Given the description of an element on the screen output the (x, y) to click on. 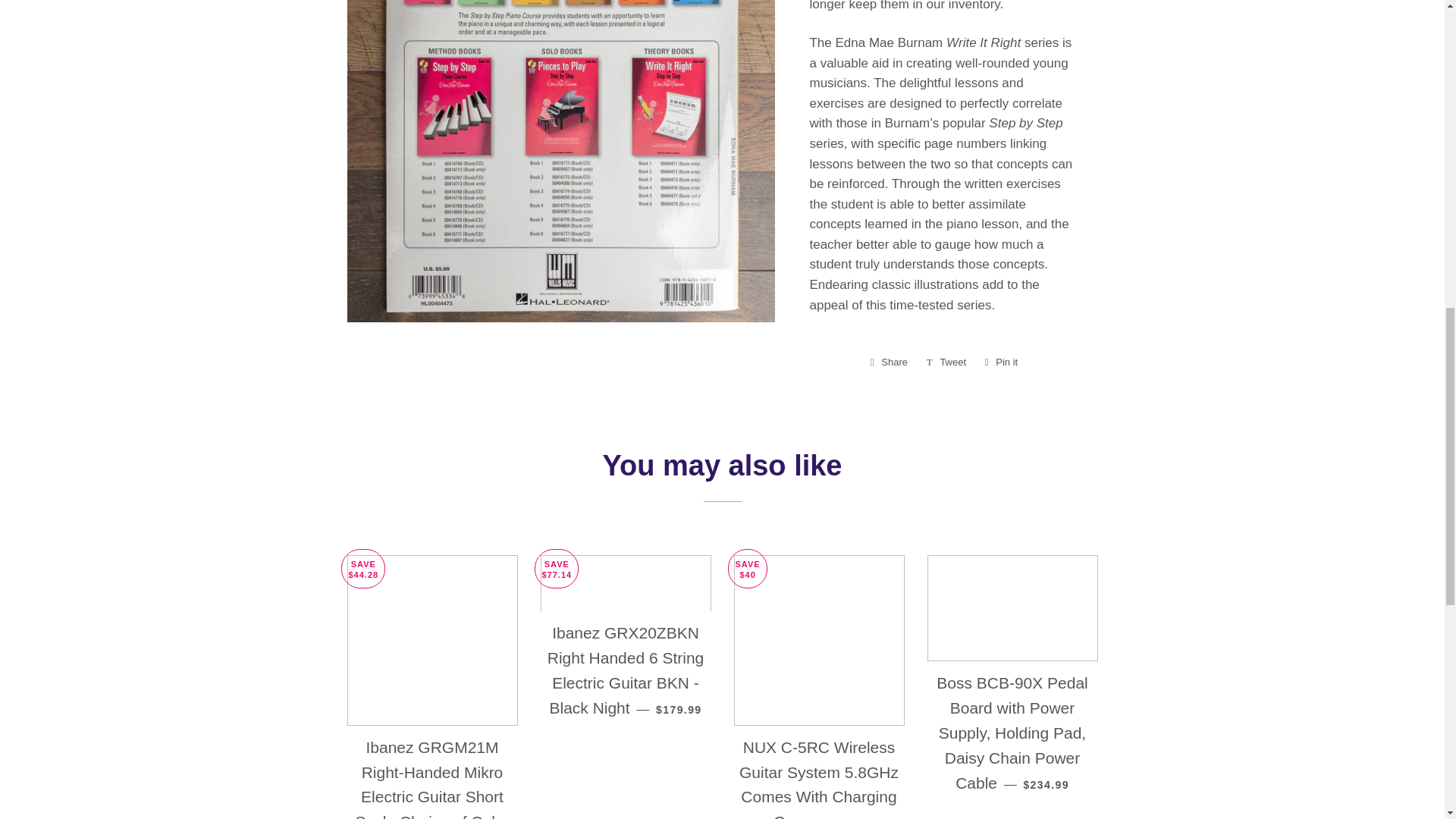
Tweet on Twitter (946, 362)
Pin on Pinterest (1000, 362)
Share on Facebook (889, 362)
